Given the description of an element on the screen output the (x, y) to click on. 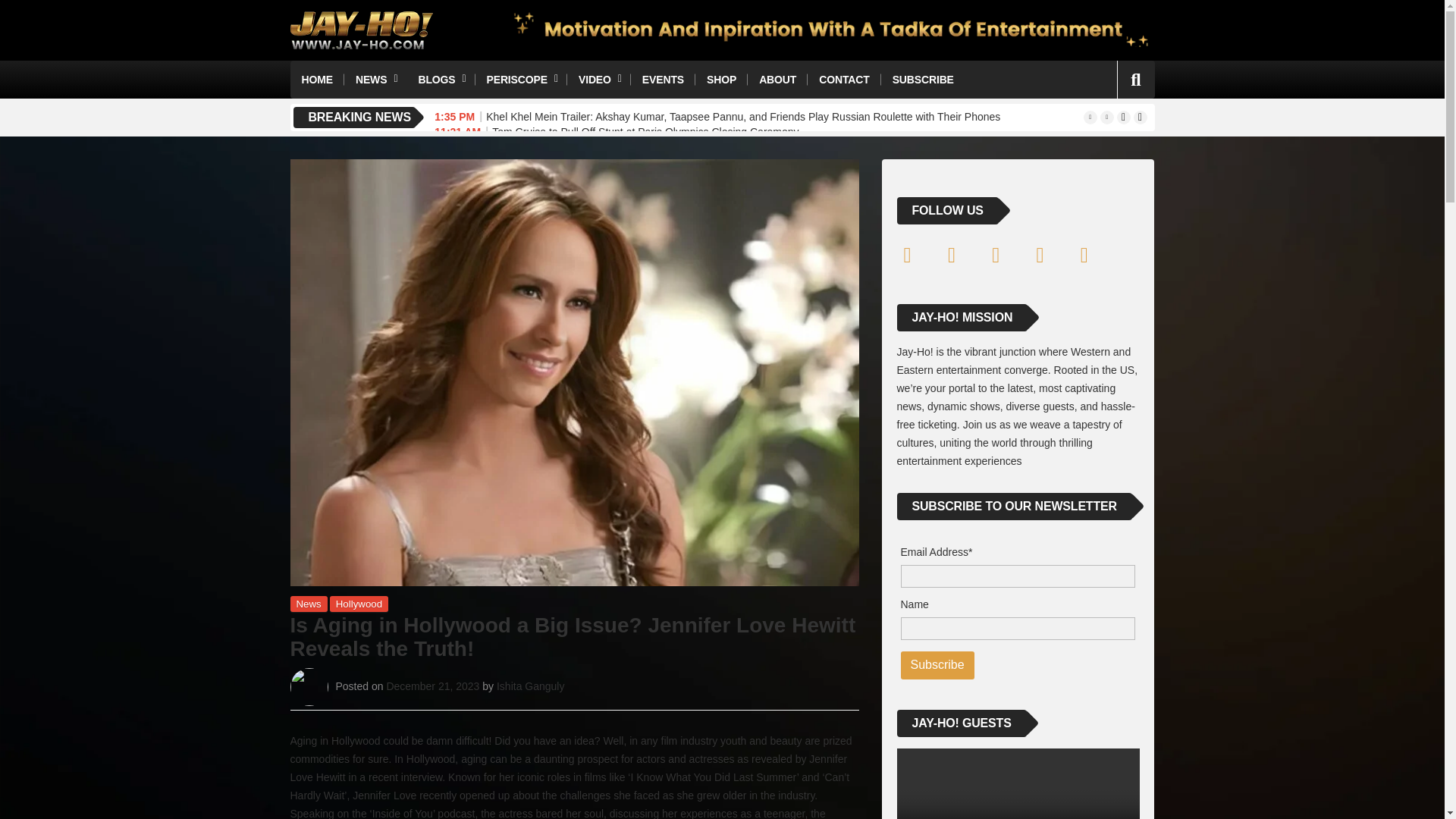
BLOGS (440, 79)
ABOUT (778, 79)
SHOP (721, 79)
NEWS (374, 79)
CONTACT (844, 79)
Subscribe (937, 665)
VIDEO (598, 79)
EVENTS (662, 79)
HOME (316, 79)
PERISCOPE (520, 79)
